Given the description of an element on the screen output the (x, y) to click on. 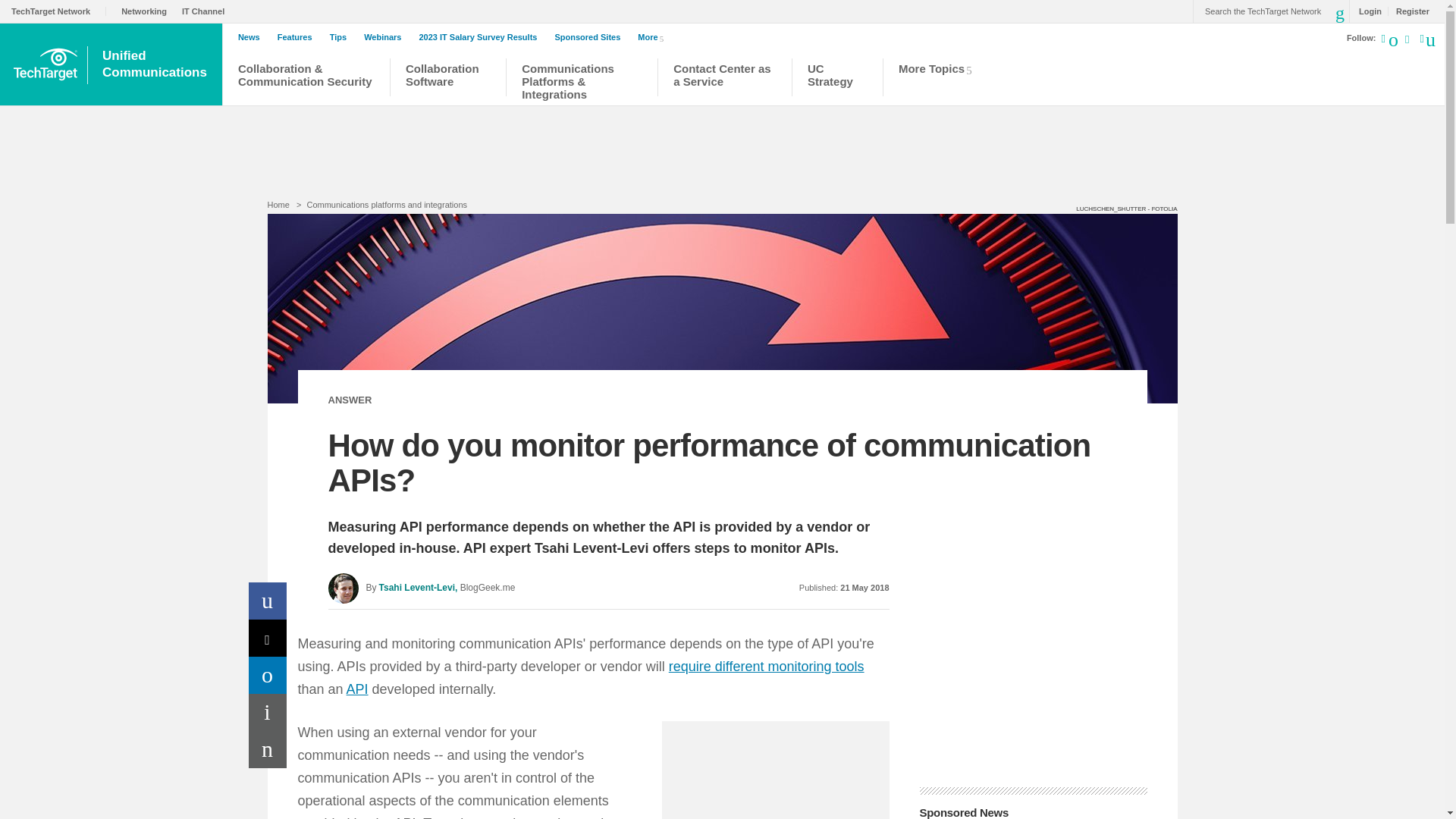
Webinars (386, 36)
Print This Page (267, 712)
Share on Facebook (267, 600)
2023 IT Salary Survey Results (481, 36)
IT Channel (206, 10)
TechTarget Network (58, 10)
Contact Center as a Service (724, 79)
UC Strategy (837, 79)
News (252, 36)
Features (299, 36)
